Given the description of an element on the screen output the (x, y) to click on. 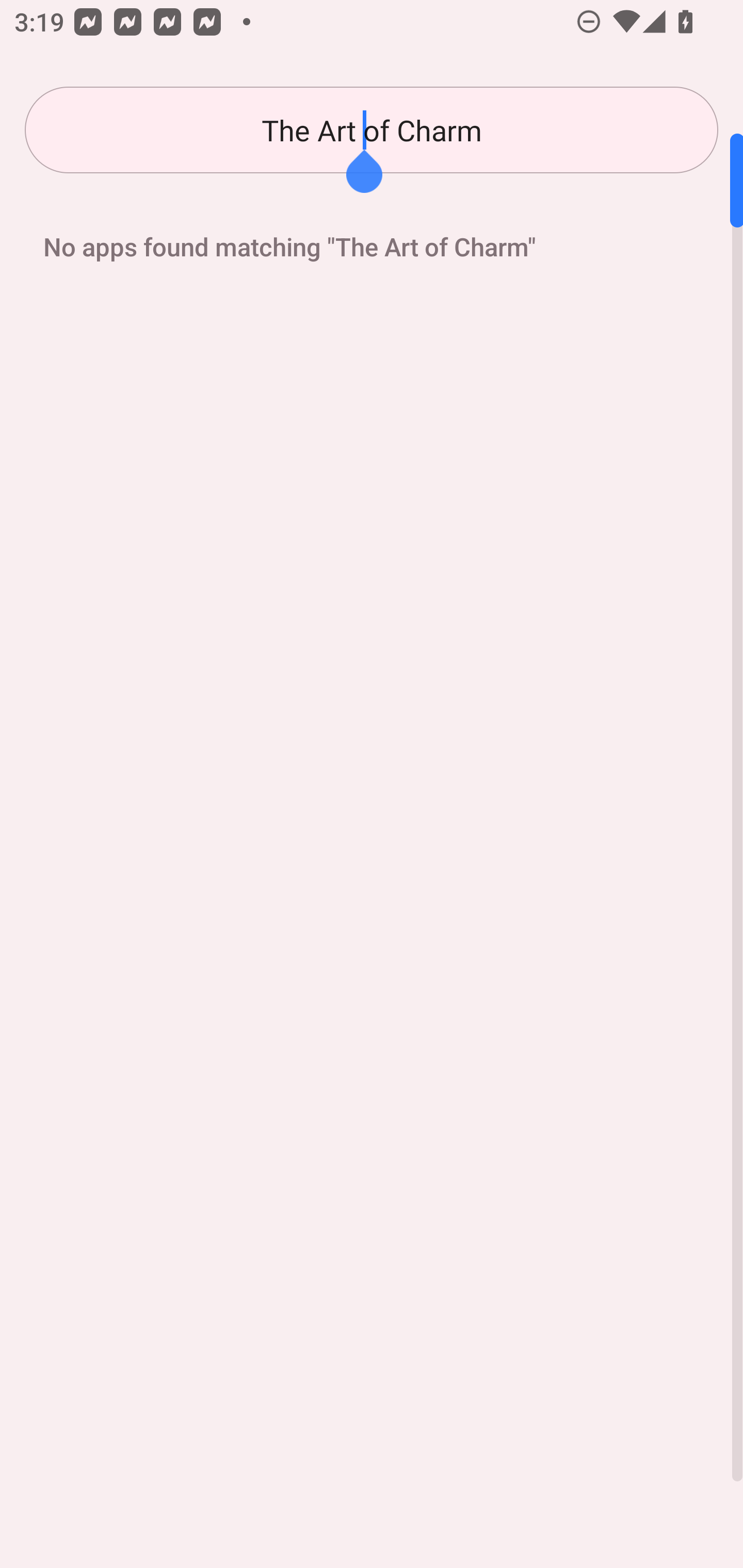
The Art of Charm (371, 130)
